Given the description of an element on the screen output the (x, y) to click on. 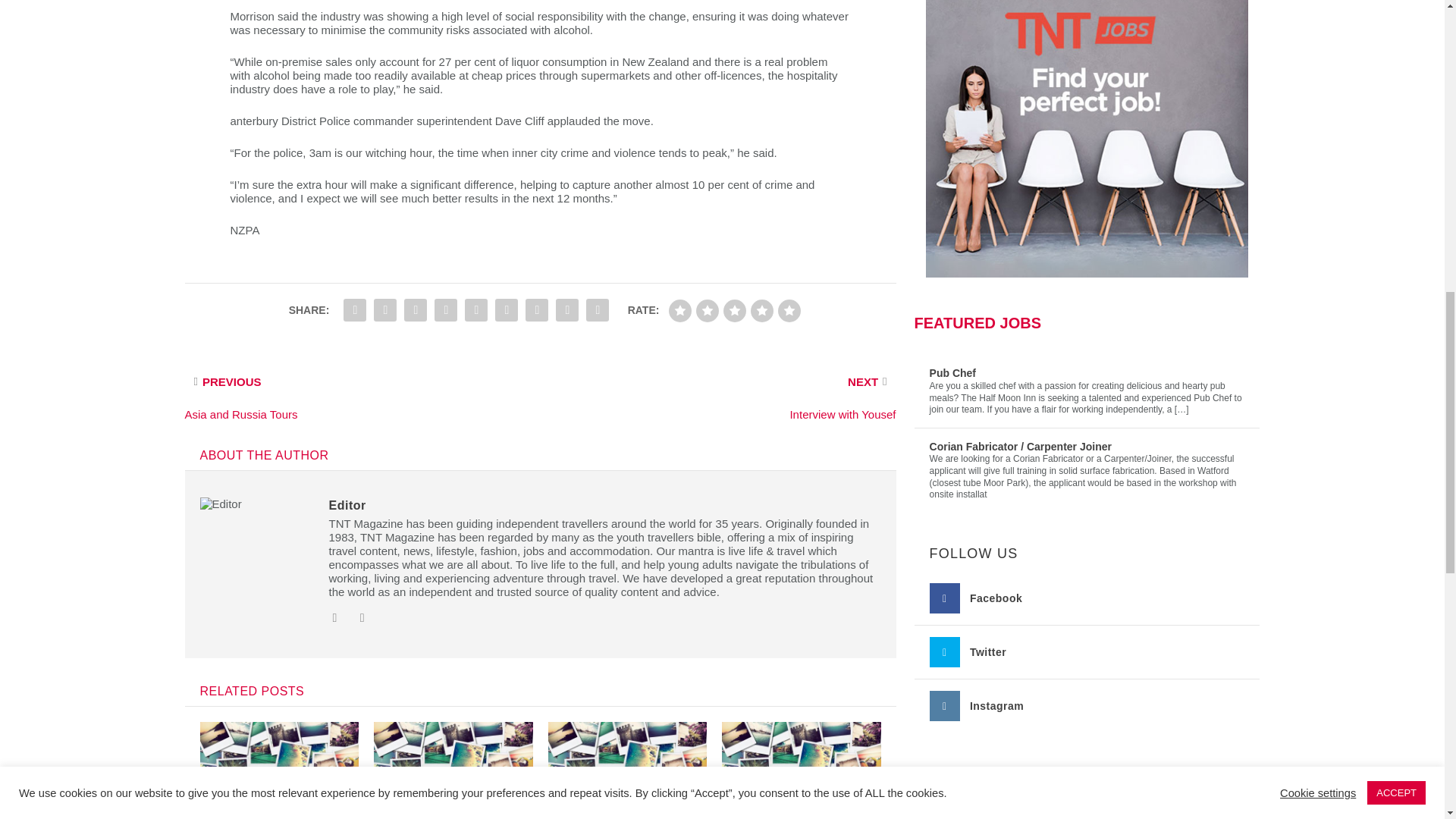
Share "Bars to lock-out at 3am" via Pinterest (445, 309)
Share "Bars to lock-out at 3am" via Twitter (384, 309)
Share "Bars to lock-out at 3am" via Tumblr (415, 309)
Share "Bars to lock-out at 3am" via LinkedIn (476, 309)
Share "Bars to lock-out at 3am" via Buffer (506, 309)
Share "Bars to lock-out at 3am" via Facebook (354, 309)
Editor (347, 504)
Share "Bars to lock-out at 3am" via Stumbleupon (536, 309)
